Given the description of an element on the screen output the (x, y) to click on. 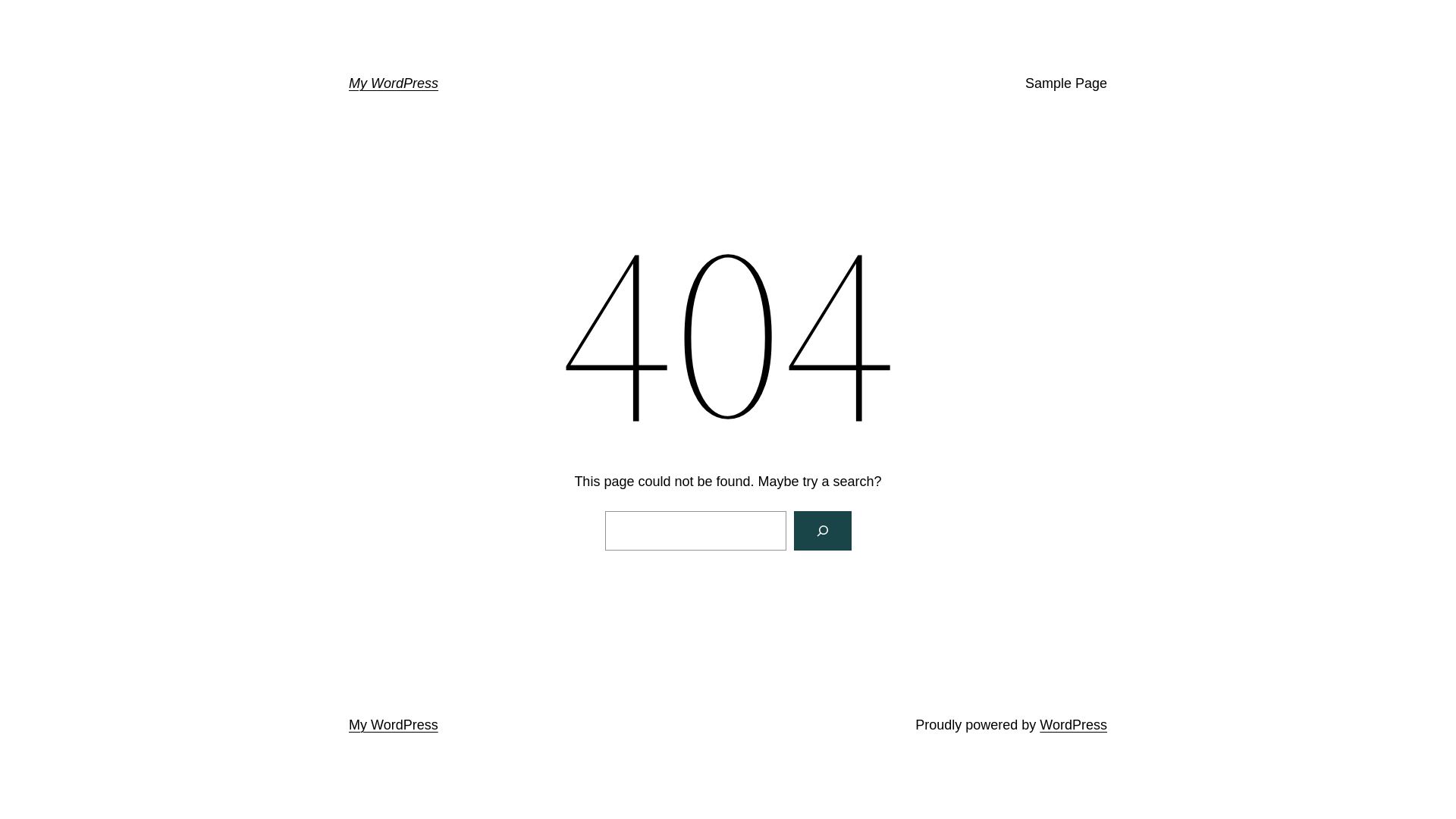
Sample Page Element type: text (1066, 83)
WordPress Element type: text (1073, 724)
My WordPress Element type: text (393, 83)
My WordPress Element type: text (393, 724)
